Given the description of an element on the screen output the (x, y) to click on. 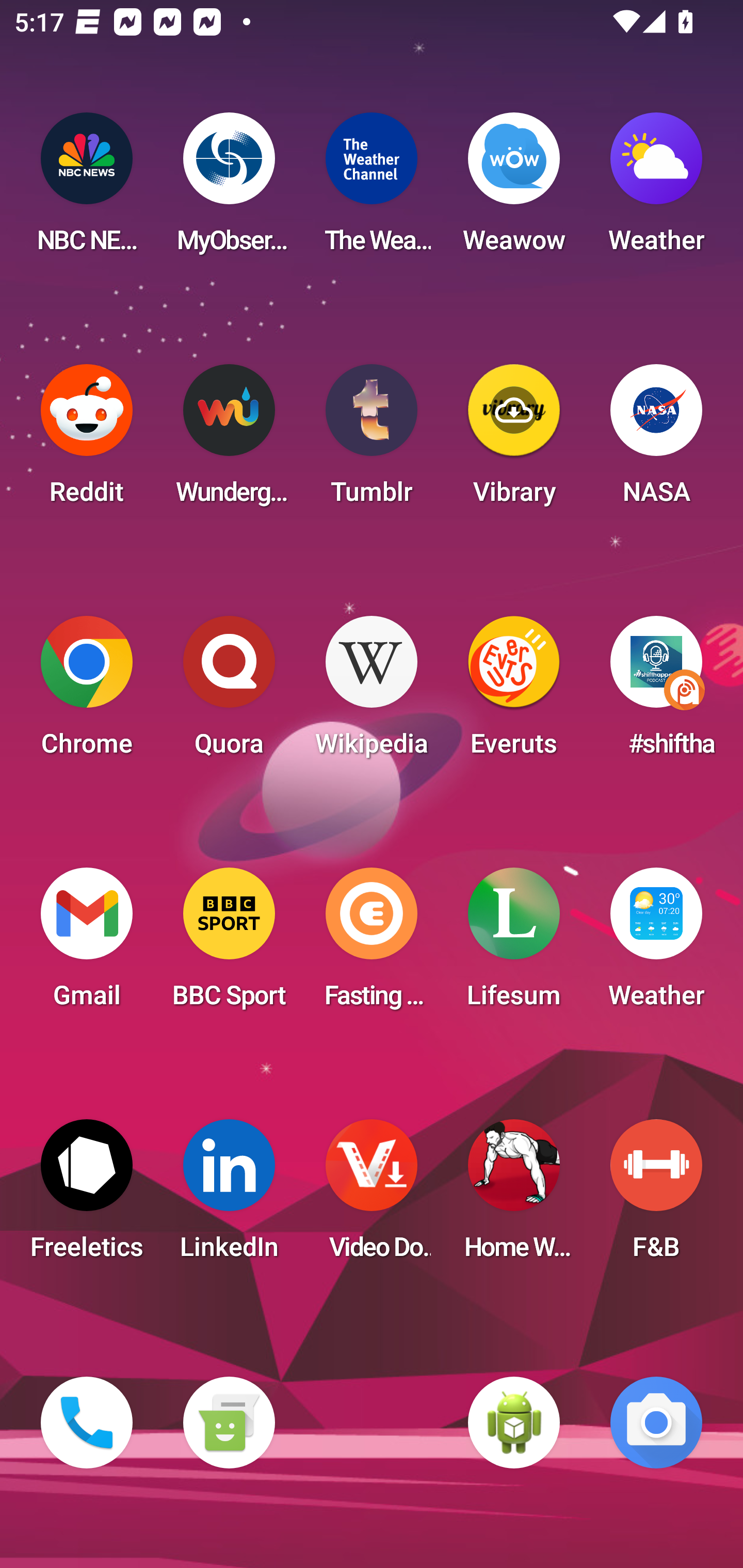
NBC NEWS (86, 188)
MyObservatory (228, 188)
The Weather Channel (371, 188)
Weawow (513, 188)
Weather (656, 188)
Reddit (86, 440)
Wunderground (228, 440)
Tumblr (371, 440)
Vibrary (513, 440)
NASA (656, 440)
Chrome (86, 692)
Quora (228, 692)
Wikipedia (371, 692)
Everuts (513, 692)
#shifthappens in the Digital Workplace Podcast (656, 692)
Gmail (86, 943)
BBC Sport (228, 943)
Fasting Coach (371, 943)
Lifesum (513, 943)
Weather (656, 943)
Freeletics (86, 1195)
LinkedIn (228, 1195)
Video Downloader & Ace Player (371, 1195)
Home Workout (513, 1195)
F&B (656, 1195)
Phone (86, 1422)
Messaging (228, 1422)
WebView Browser Tester (513, 1422)
Camera (656, 1422)
